Given the description of an element on the screen output the (x, y) to click on. 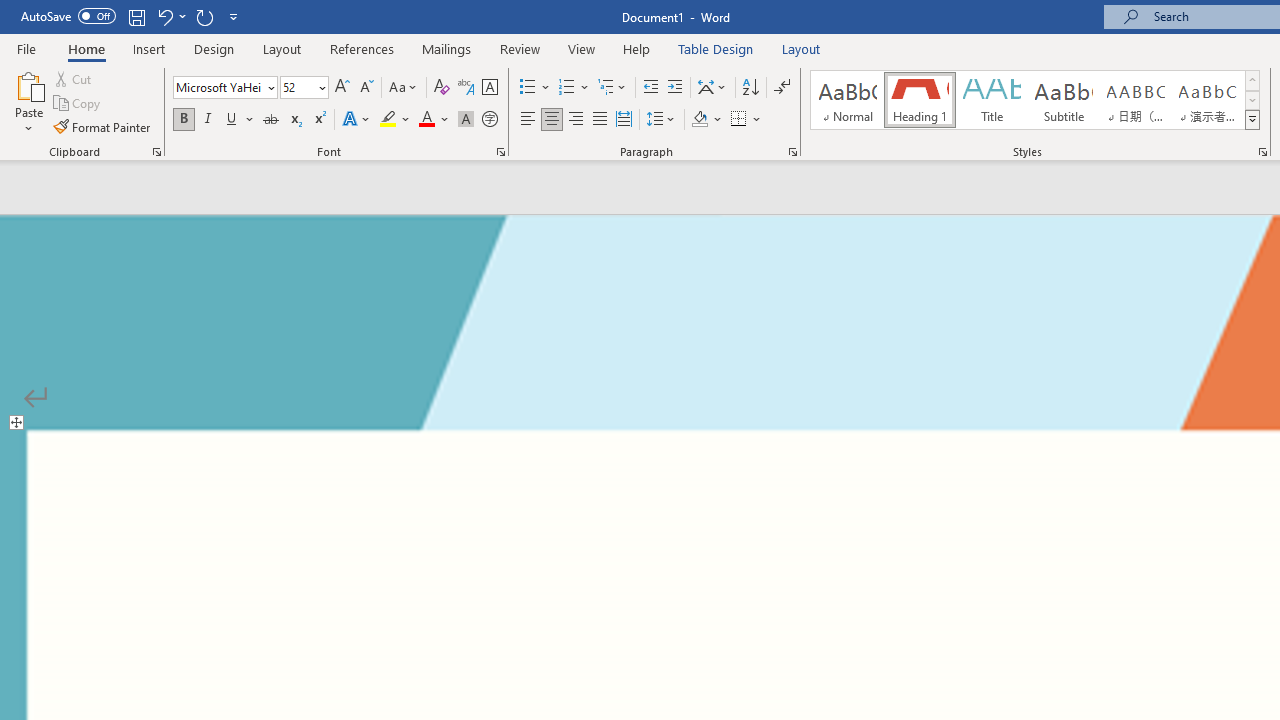
Clear Formatting (442, 87)
Increase Indent (675, 87)
Format Painter (103, 126)
Subtitle (1063, 100)
Line and Paragraph Spacing (661, 119)
Font Color (434, 119)
Text Highlight Color (395, 119)
